Given the description of an element on the screen output the (x, y) to click on. 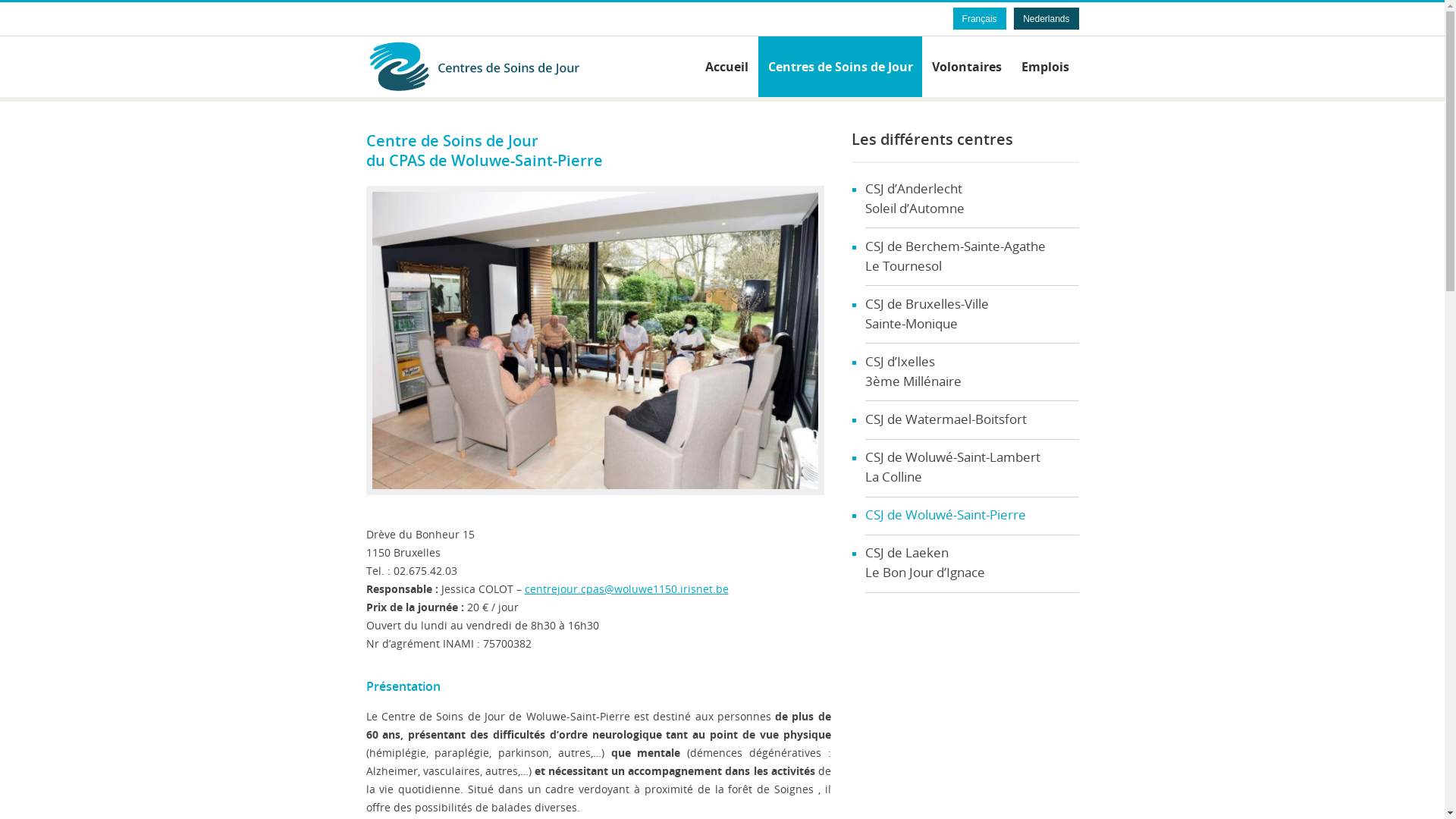
CSJ de Bruxelles-Ville
Sainte-Monique Element type: text (971, 314)
Nederlands Element type: text (1045, 18)
centrejour.cpas@woluwe1150.irisnet.be Element type: text (626, 588)
CSJ de Berchem-Sainte-Agathe
Le Tournesol Element type: text (971, 256)
Volontaires Element type: text (966, 66)
Centres de Soins de Jour Element type: text (840, 66)
Accueil Element type: text (726, 66)
CSJ de Watermael-Boitsfort Element type: text (971, 420)
Emplois Element type: text (1045, 66)
Centres de Soins de Jour Element type: text (497, 66)
